Given the description of an element on the screen output the (x, y) to click on. 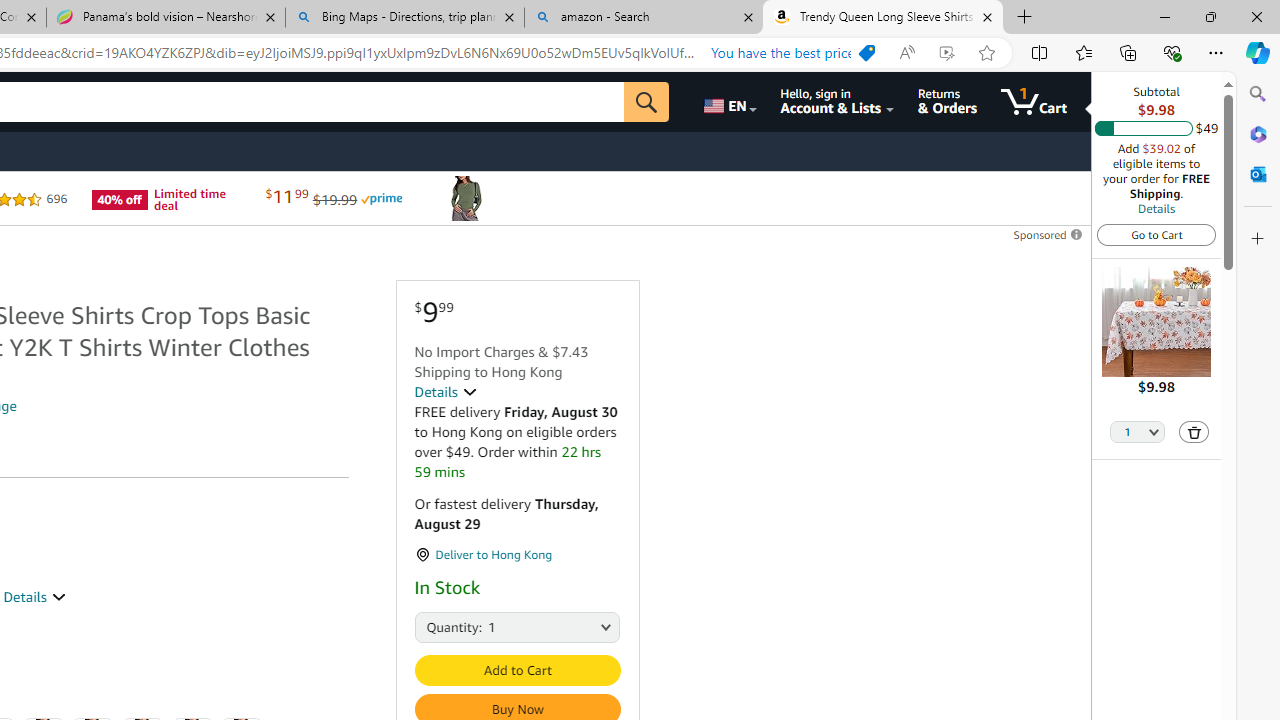
Details (1156, 208)
Delete (1193, 431)
Delete (1194, 431)
Prime (381, 198)
Go (646, 101)
